Given the description of an element on the screen output the (x, y) to click on. 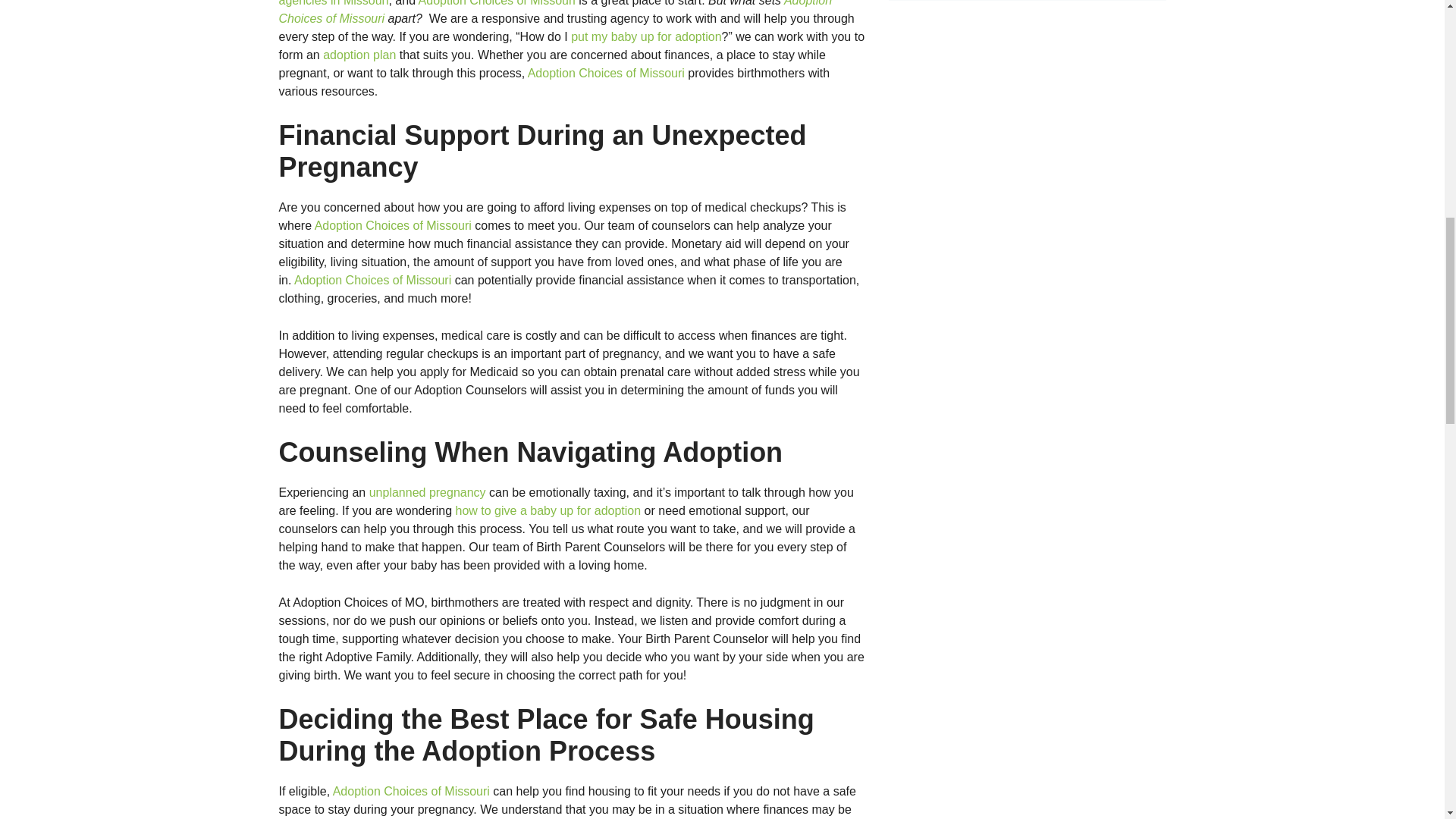
put my baby up for adoption (645, 36)
Adoption Choices of Missouri (497, 3)
adoption plan (359, 54)
Adoption Choices of Missouri (555, 12)
adoption agencies in Missouri (562, 3)
